Given the description of an element on the screen output the (x, y) to click on. 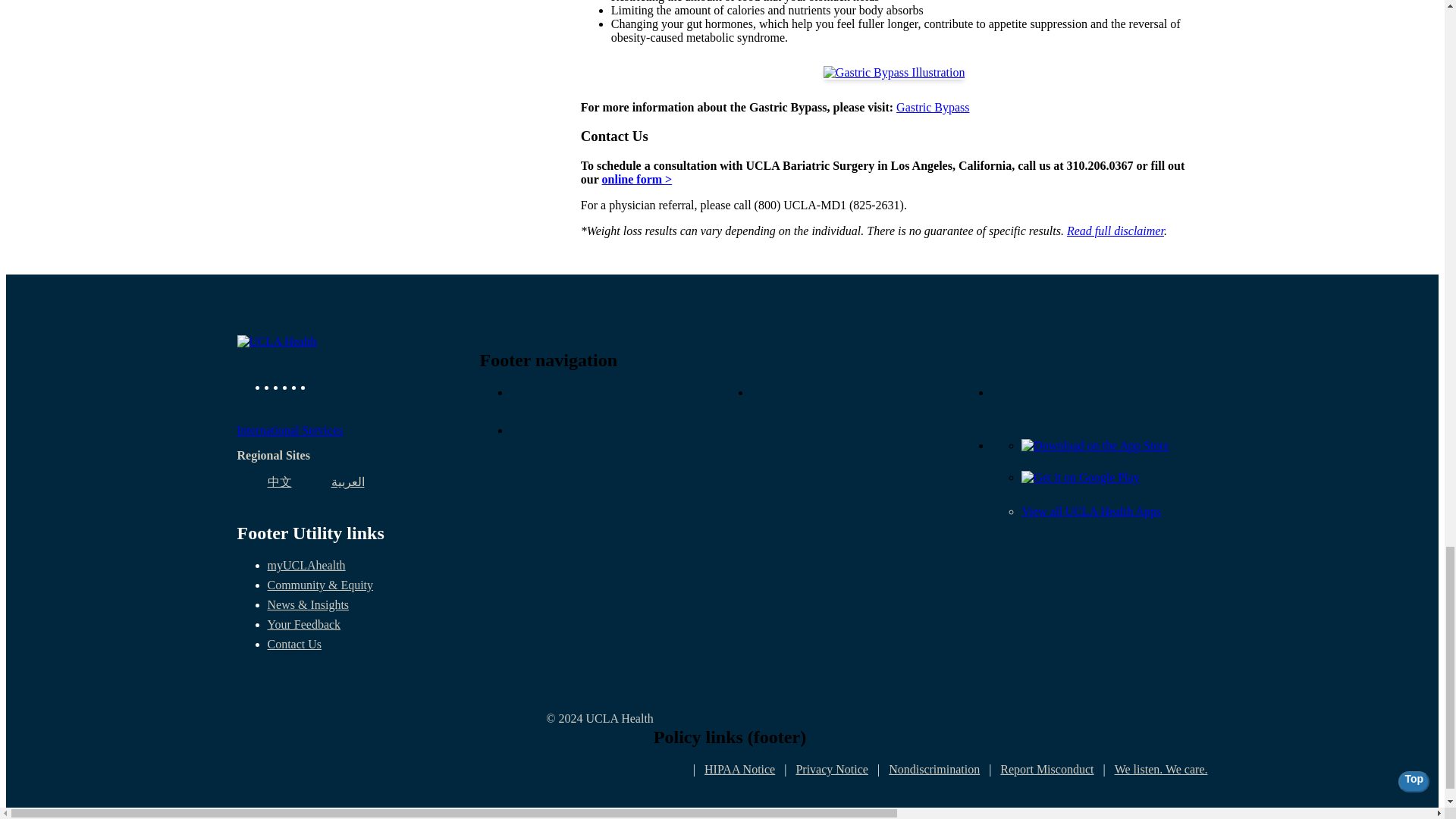
online form (637, 178)
Gastric Bypass (932, 106)
myUCLAhealth Login. (305, 564)
UCLA Weight Loss Disclaimer (1115, 230)
